Given the description of an element on the screen output the (x, y) to click on. 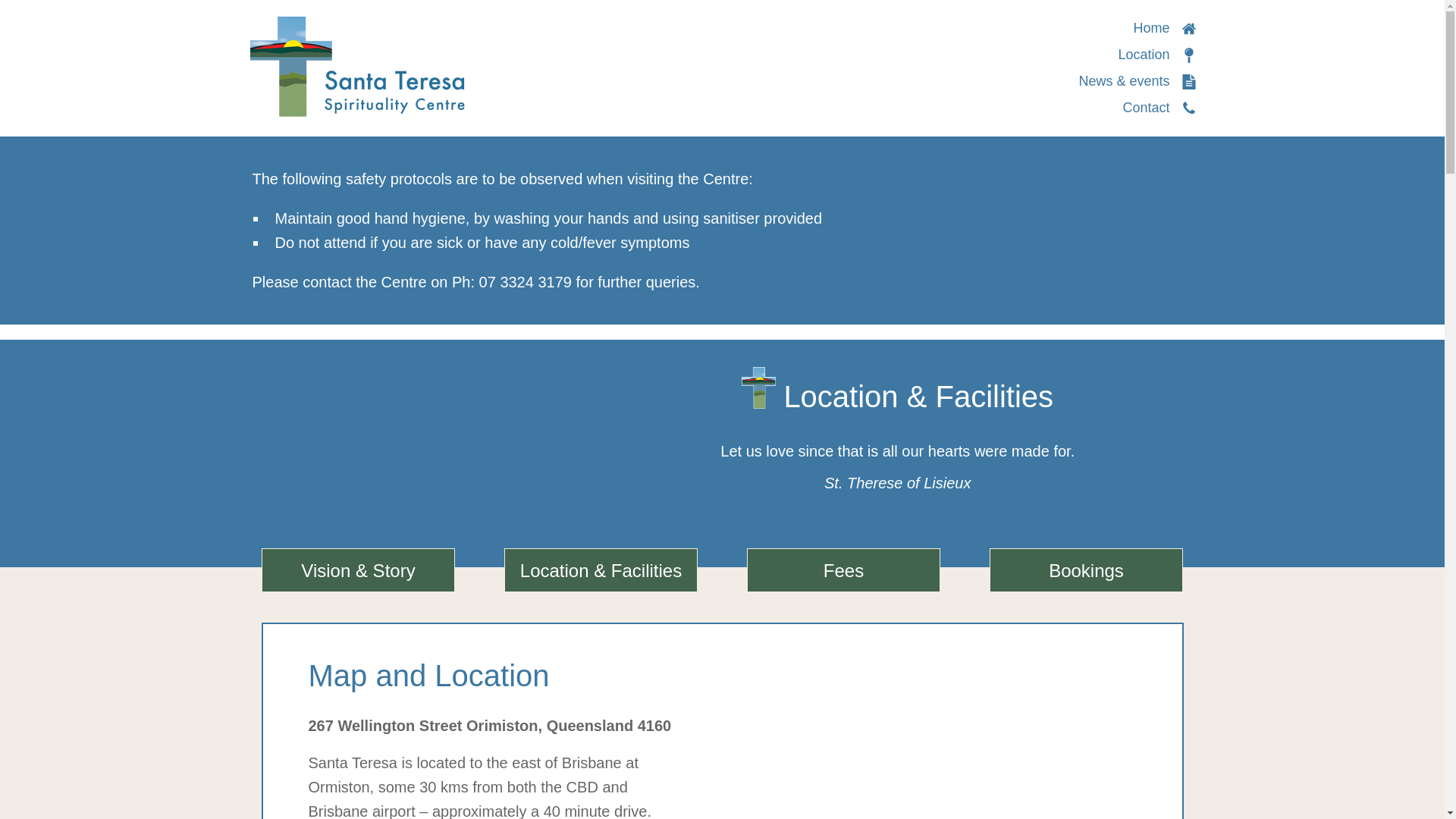
Return to Santa Teresa Spirituality Centre homepage (1163, 28)
Map and Location (721, 675)
Fees (843, 569)
Santa Teresa Spirituality Centre location and address (1156, 54)
Latest Santa Teresa Spirituality Centre news and events (1136, 80)
Bookings (1086, 569)
Home (1163, 28)
Return to Santa Teresa Spirituality Centre homepage (356, 64)
Location (1156, 54)
Contact details for Santa Teresa Spirituality Centre (1158, 107)
